Given the description of an element on the screen output the (x, y) to click on. 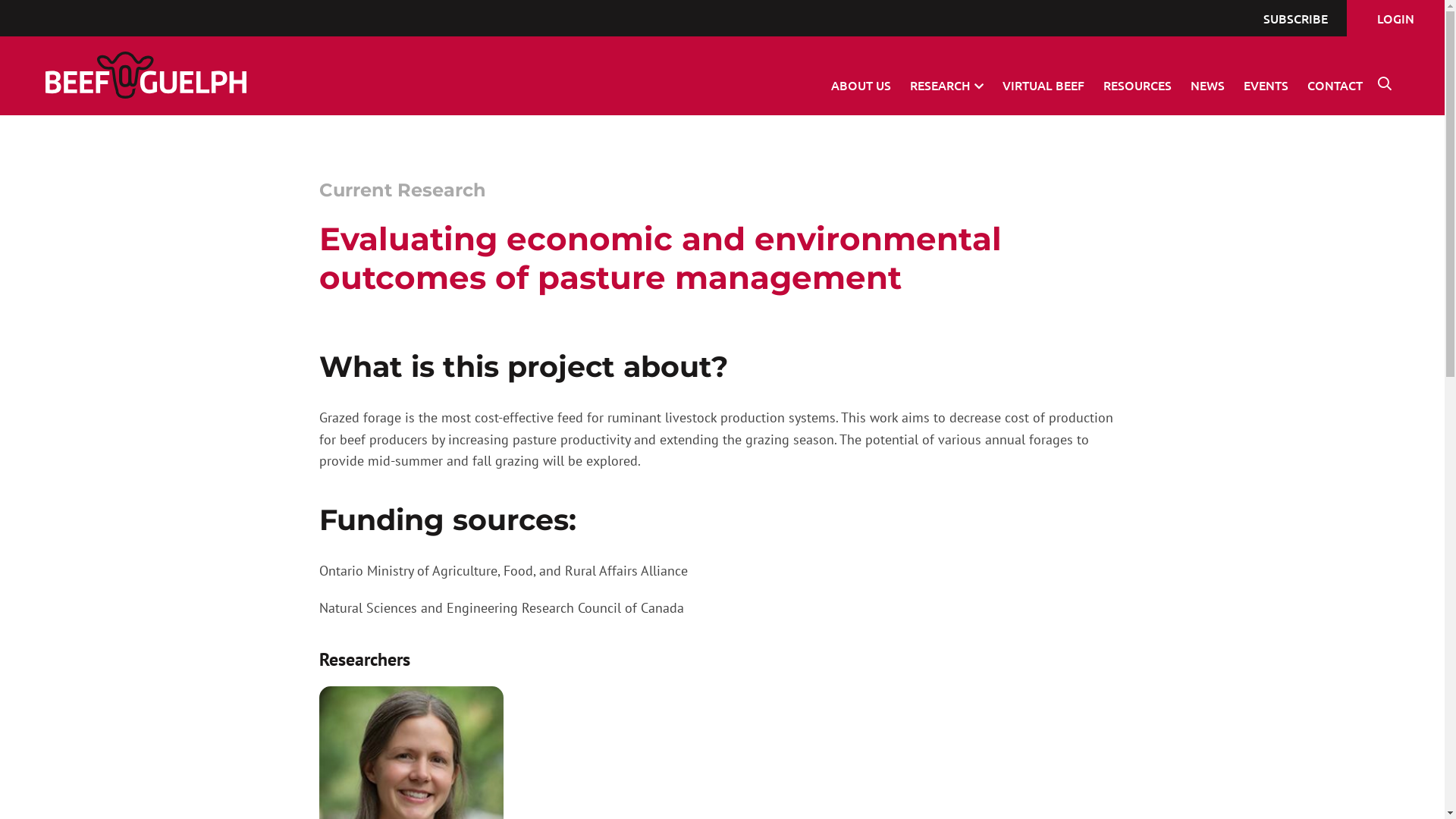
ABOUT US Element type: text (860, 84)
NEWS Element type: text (1207, 84)
VIRTUAL BEEF Element type: text (1043, 84)
RESEARCH Element type: text (946, 84)
SUBSCRIBE Element type: text (1295, 17)
LOGIN Element type: text (1395, 17)
EVENTS Element type: text (1265, 84)
RESOURCES Element type: text (1137, 84)
CONTACT Element type: text (1334, 84)
GO Element type: text (945, 445)
